Given the description of an element on the screen output the (x, y) to click on. 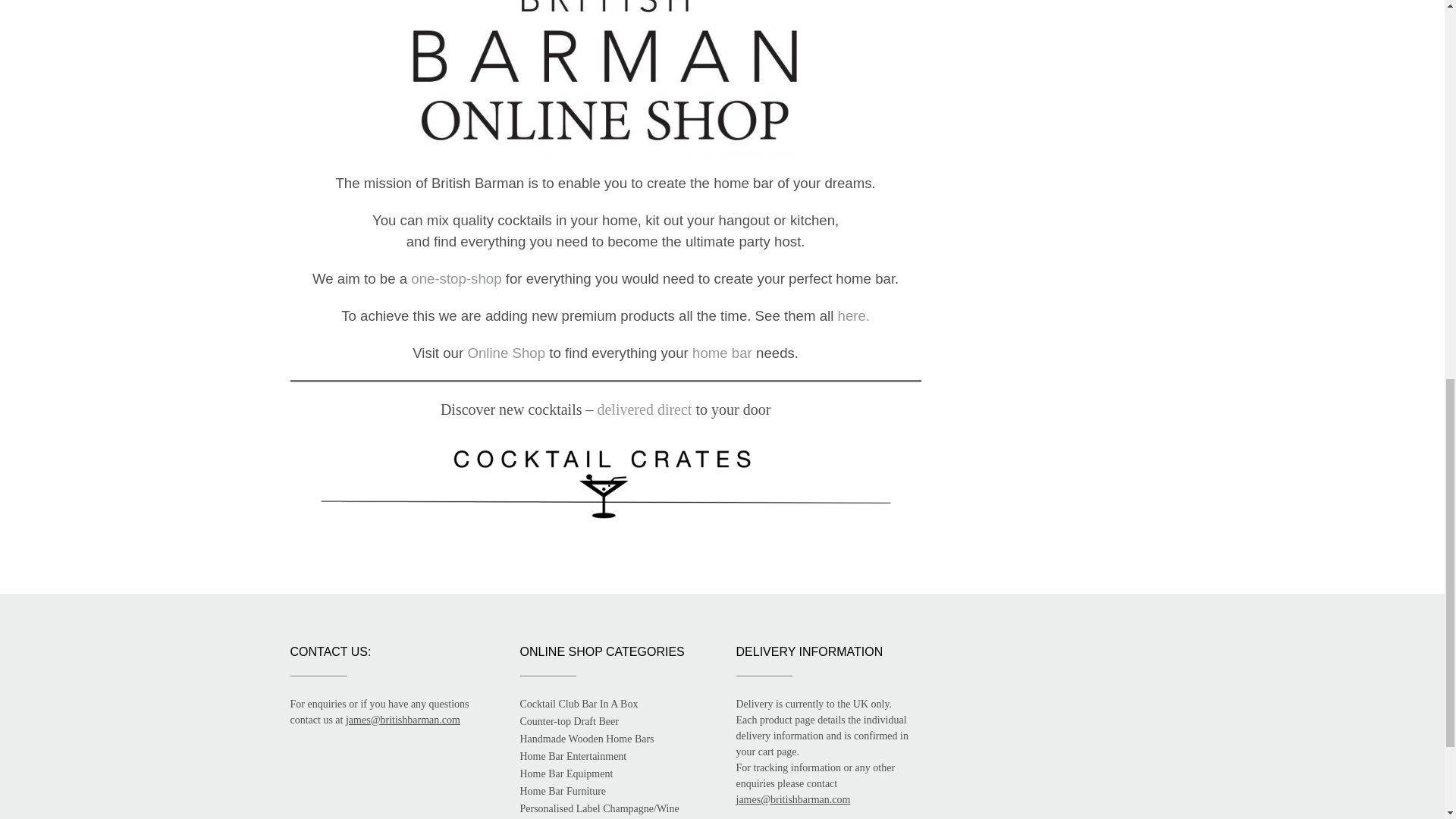
home bar (722, 352)
here. (854, 315)
Home Bar Equipment (565, 773)
Home Bar Furniture (563, 790)
Cocktail Club Bar In A Box (579, 704)
Online Shop (505, 352)
Counter-top Draft Beer (568, 721)
Handmade Wooden Home Bars (586, 738)
delivered direct (643, 409)
one-stop-shop (455, 278)
